Given the description of an element on the screen output the (x, y) to click on. 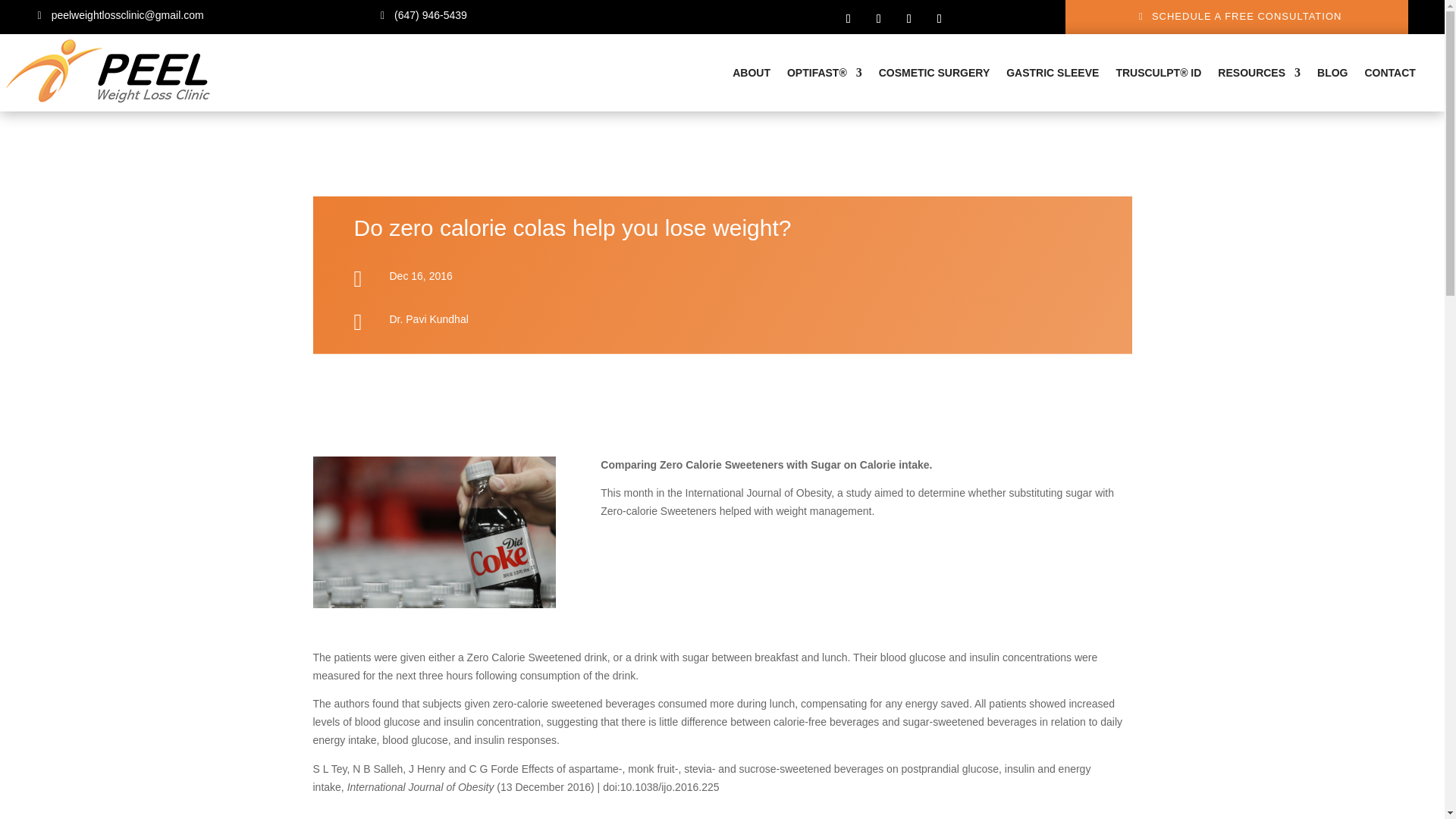
GASTRIC SLEEVE (1052, 72)
COSMETIC SURGERY (934, 72)
Follow on X (878, 18)
Follow on Facebook (847, 18)
Follow on Youtube (939, 18)
RESOURCES (1258, 72)
SCHEDULE A FREE CONSULTATION (1236, 17)
Follow on Instagram (908, 18)
